Given the description of an element on the screen output the (x, y) to click on. 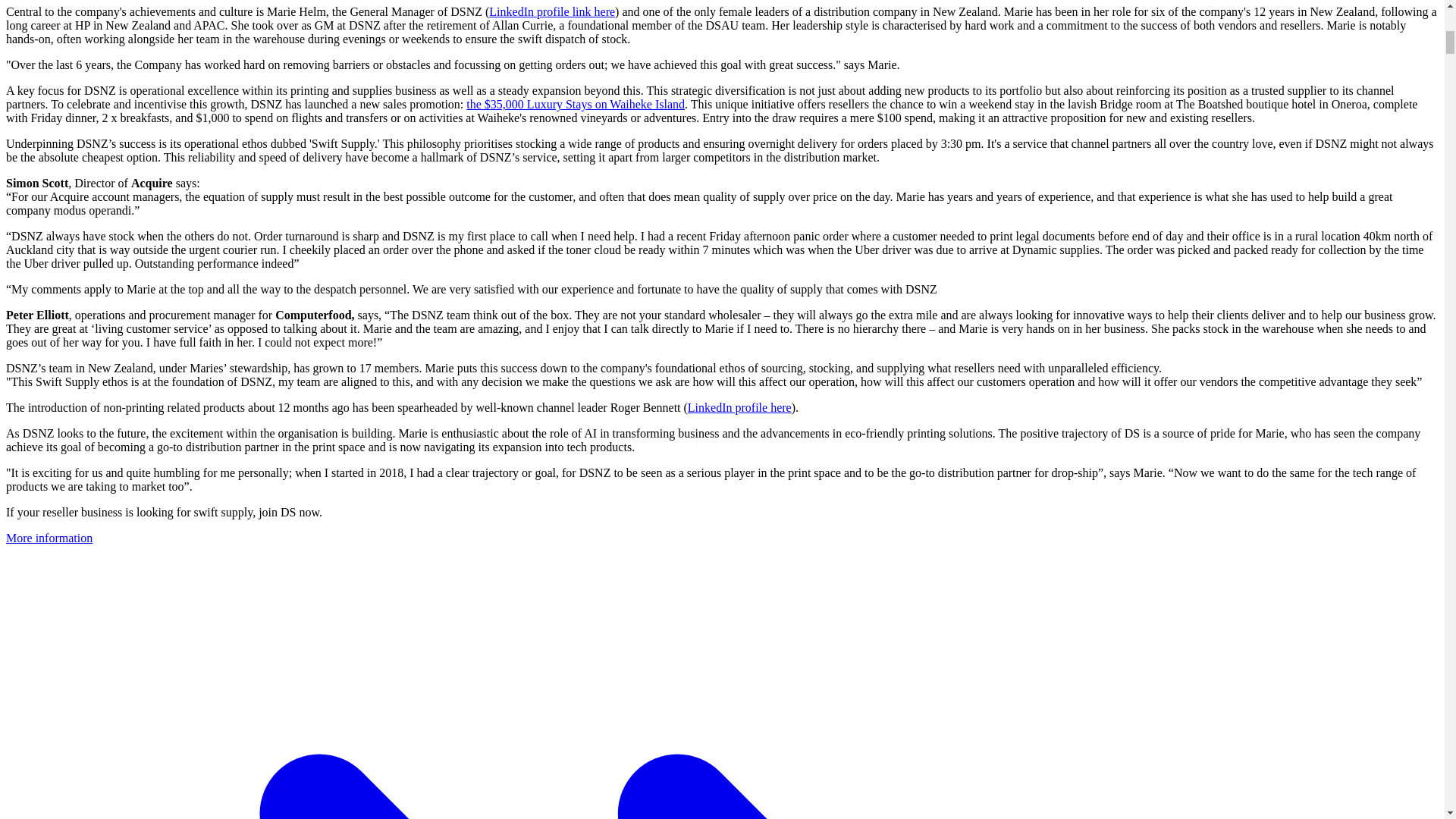
LinkedIn profile link here (551, 11)
LinkedIn profile here (739, 407)
